Given the description of an element on the screen output the (x, y) to click on. 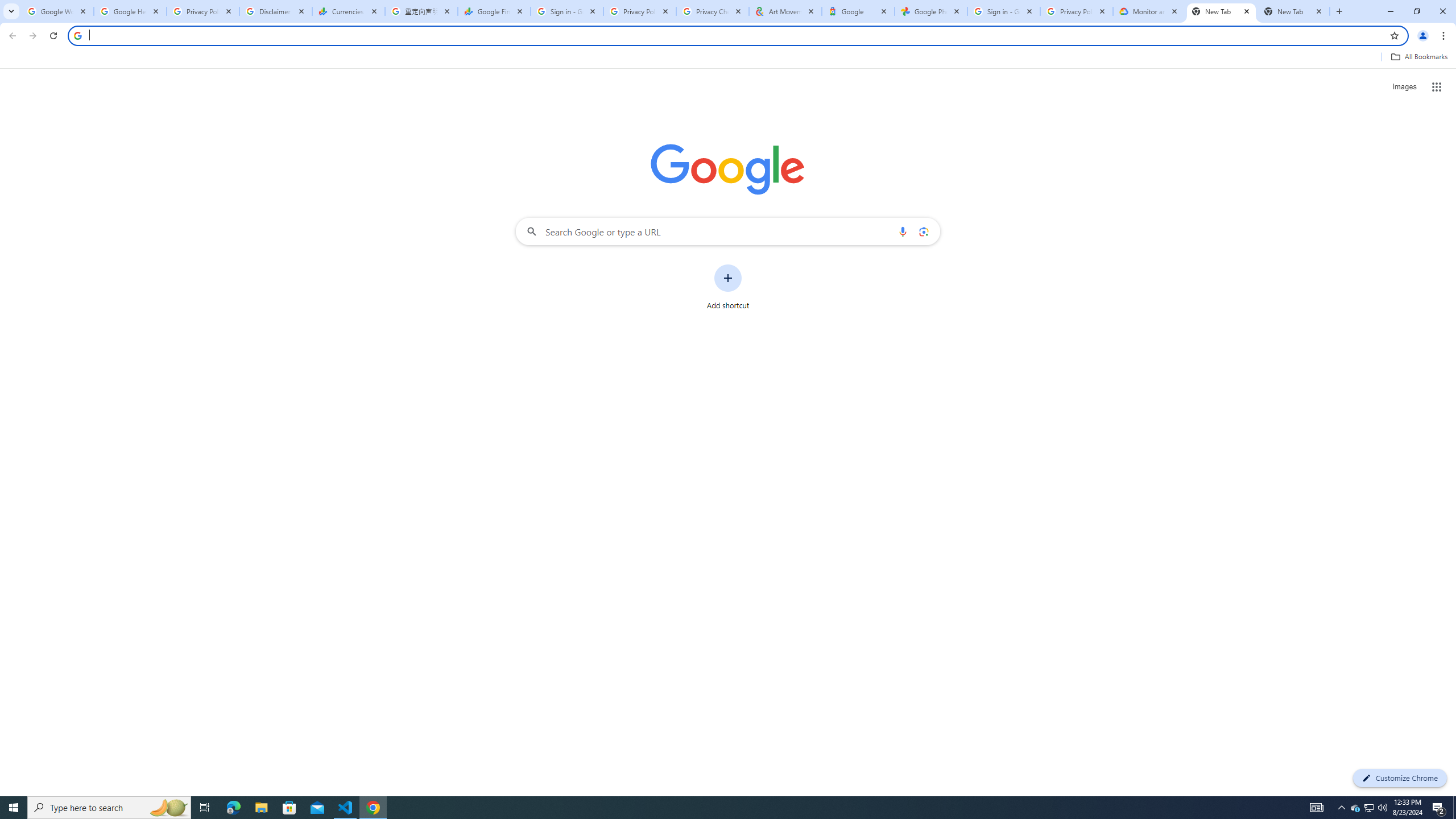
Customize Chrome (1399, 778)
Bookmarks (728, 58)
Google (857, 11)
